Given the description of an element on the screen output the (x, y) to click on. 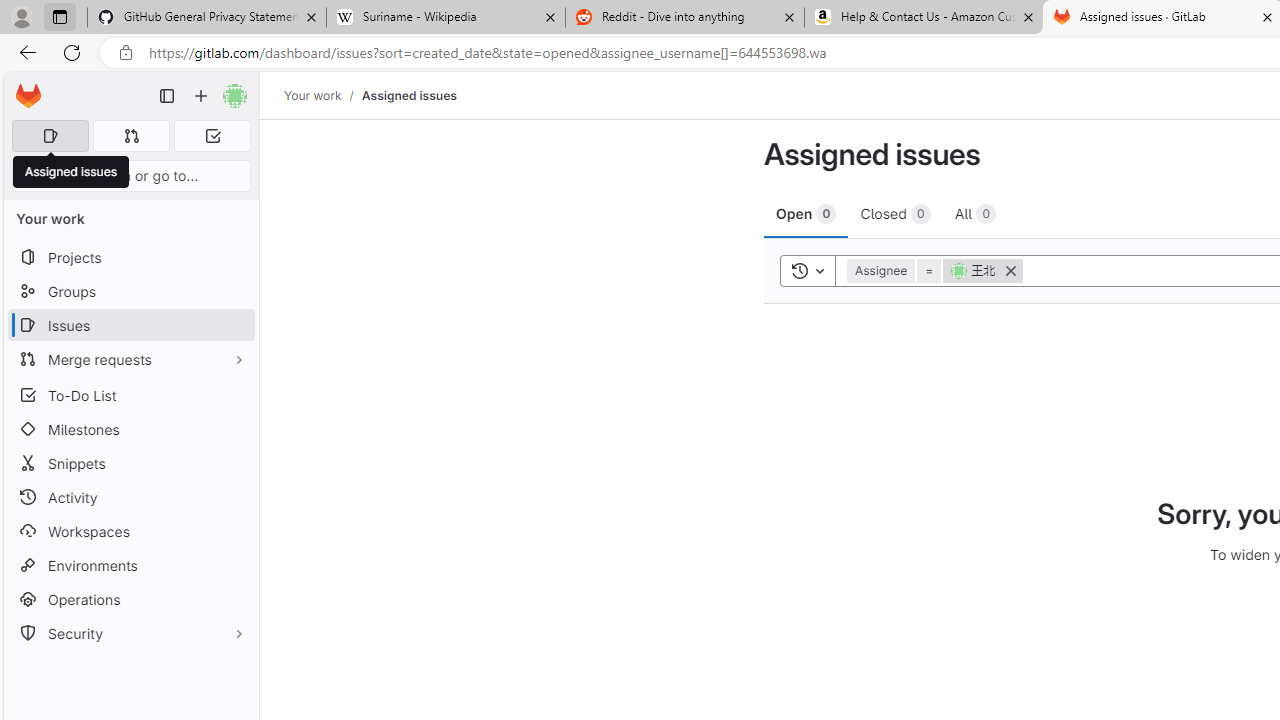
Primary navigation sidebar (167, 96)
Closed 0 (895, 213)
To-Do list 0 (212, 136)
Snippets (130, 463)
GitHub General Privacy Statement - GitHub Docs (207, 17)
Groups (130, 291)
Suriname - Wikipedia (445, 17)
Assigned issues (71, 171)
Projects (130, 257)
Assigned issues 0 (50, 136)
To-Do List (130, 394)
